Given the description of an element on the screen output the (x, y) to click on. 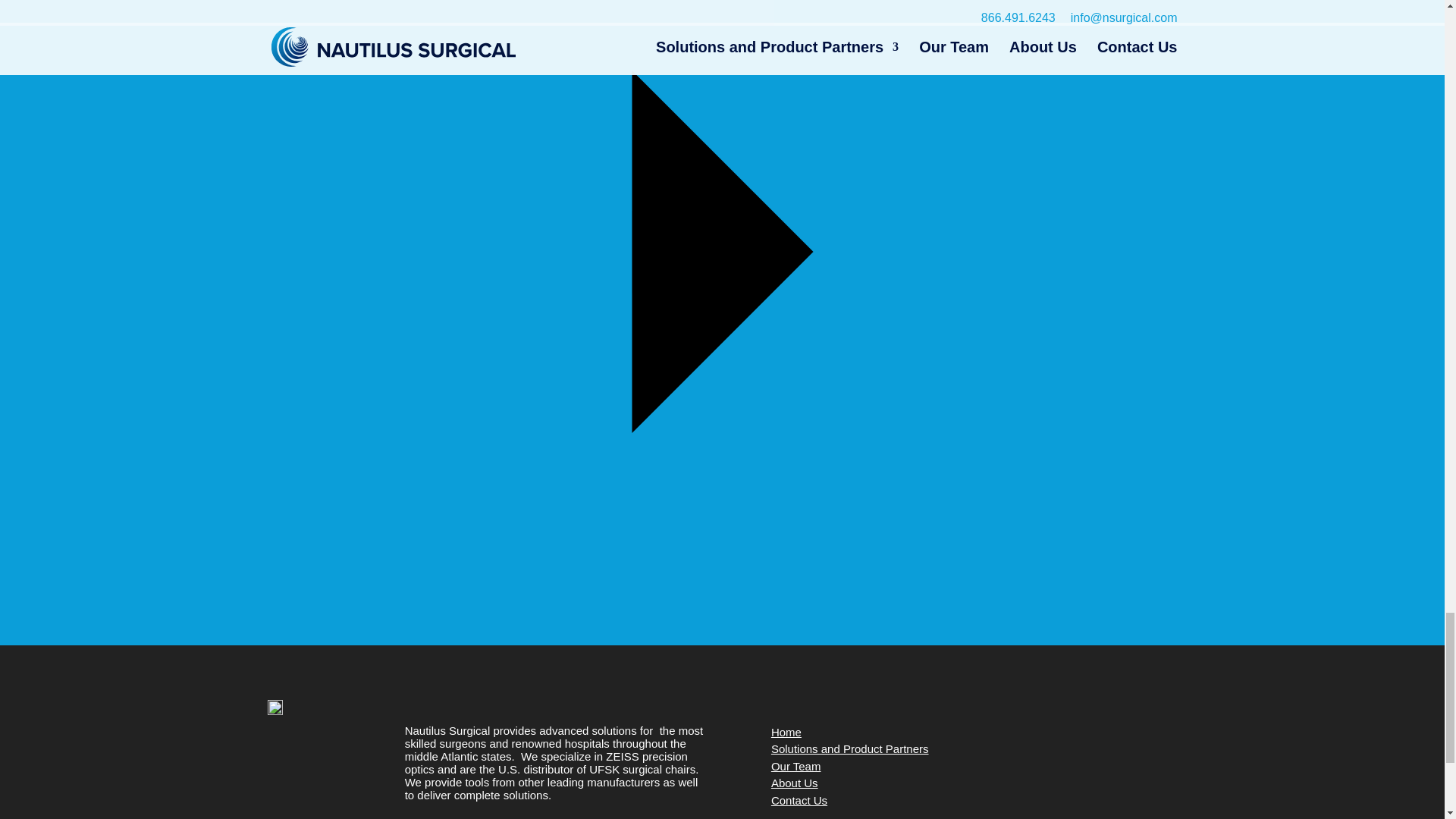
Solutions and Product Partners (849, 748)
Our Team (796, 766)
Contact Us (799, 799)
About Us (794, 782)
Home (786, 731)
